Given the description of an element on the screen output the (x, y) to click on. 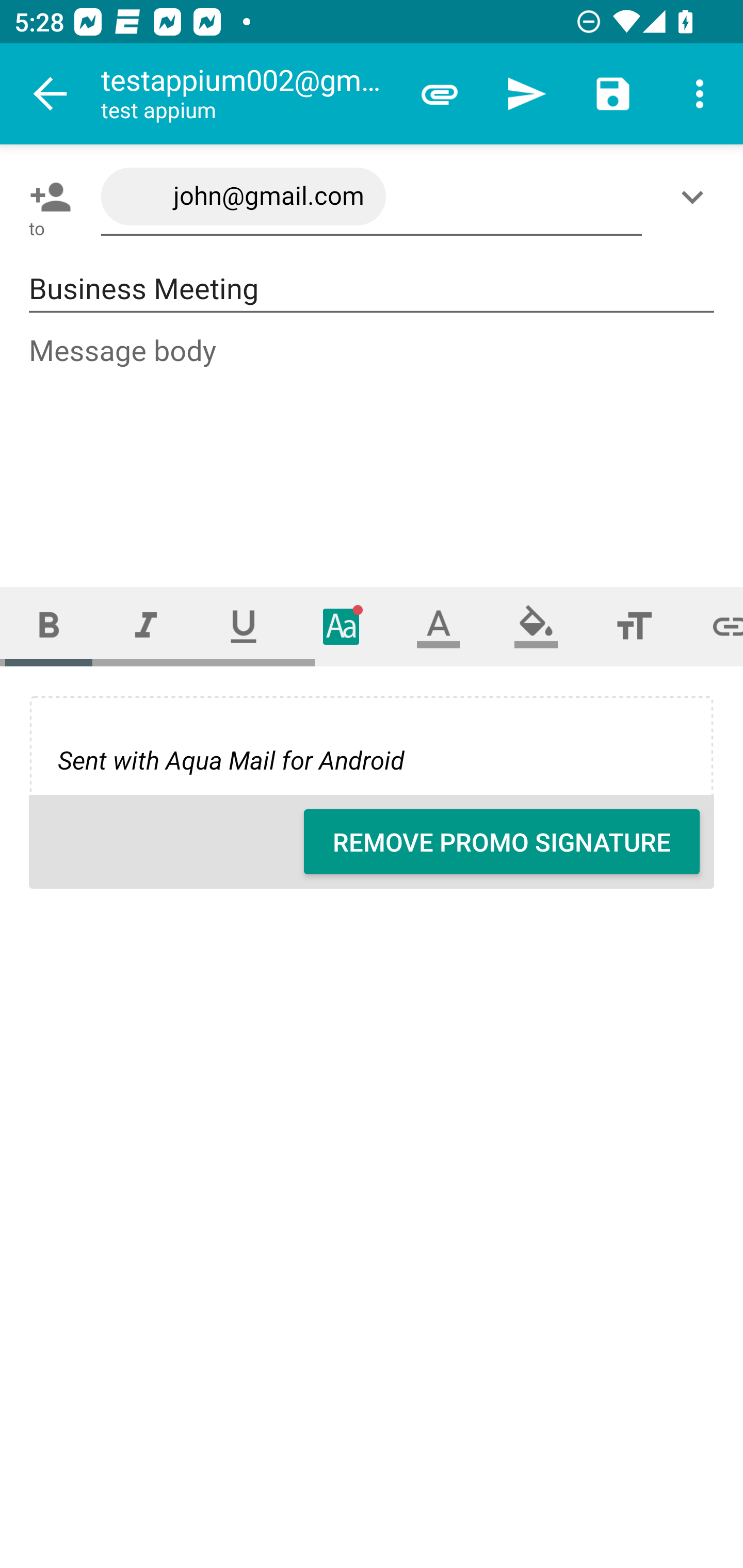
Navigate up (50, 93)
testappium002@gmail.com test appium (248, 93)
Attach (439, 93)
Send (525, 93)
Save (612, 93)
More options (699, 93)
john@gmail.com,  (371, 197)
Pick contact: To (46, 196)
Show/Add CC/BCC (696, 196)
Business Meeting (371, 288)
Message body (372, 442)
Bold (48, 626)
Italic (145, 626)
Underline (243, 626)
Typeface (font) (341, 626)
Text color (438, 626)
Fill color (536, 626)
Font size (633, 626)
Set link (712, 626)
REMOVE PROMO SIGNATURE (501, 841)
